Given the description of an element on the screen output the (x, y) to click on. 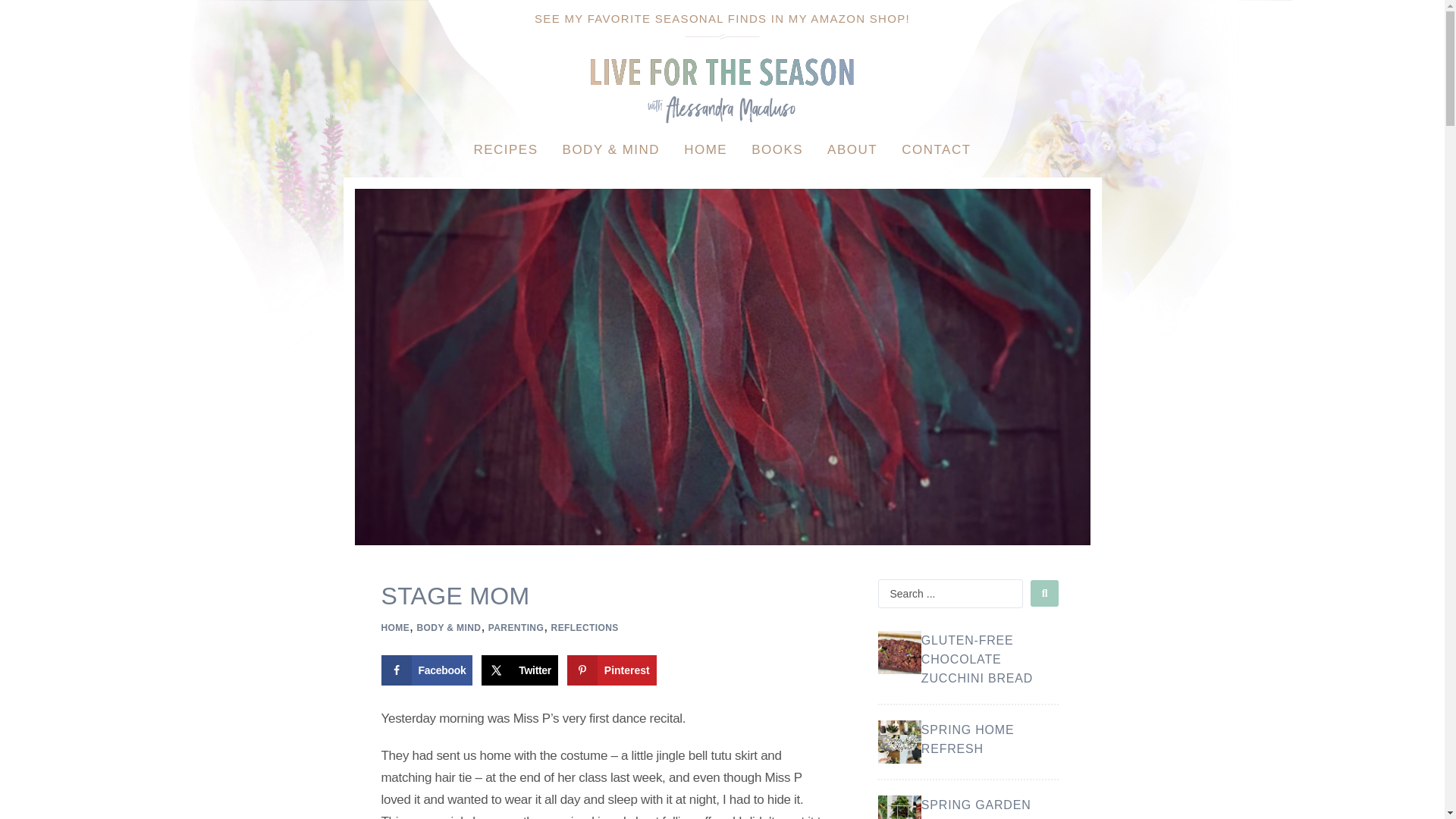
BOOKS (777, 150)
HOME (394, 627)
Share on X (519, 670)
HOME (705, 150)
Facebook (425, 670)
PARENTING (515, 627)
SEE MY FAVORITE SEASONAL FINDS IN MY AMAZON SHOP! (722, 18)
RECIPES (505, 150)
Twitter (519, 670)
Share on Facebook (425, 670)
